Given the description of an element on the screen output the (x, y) to click on. 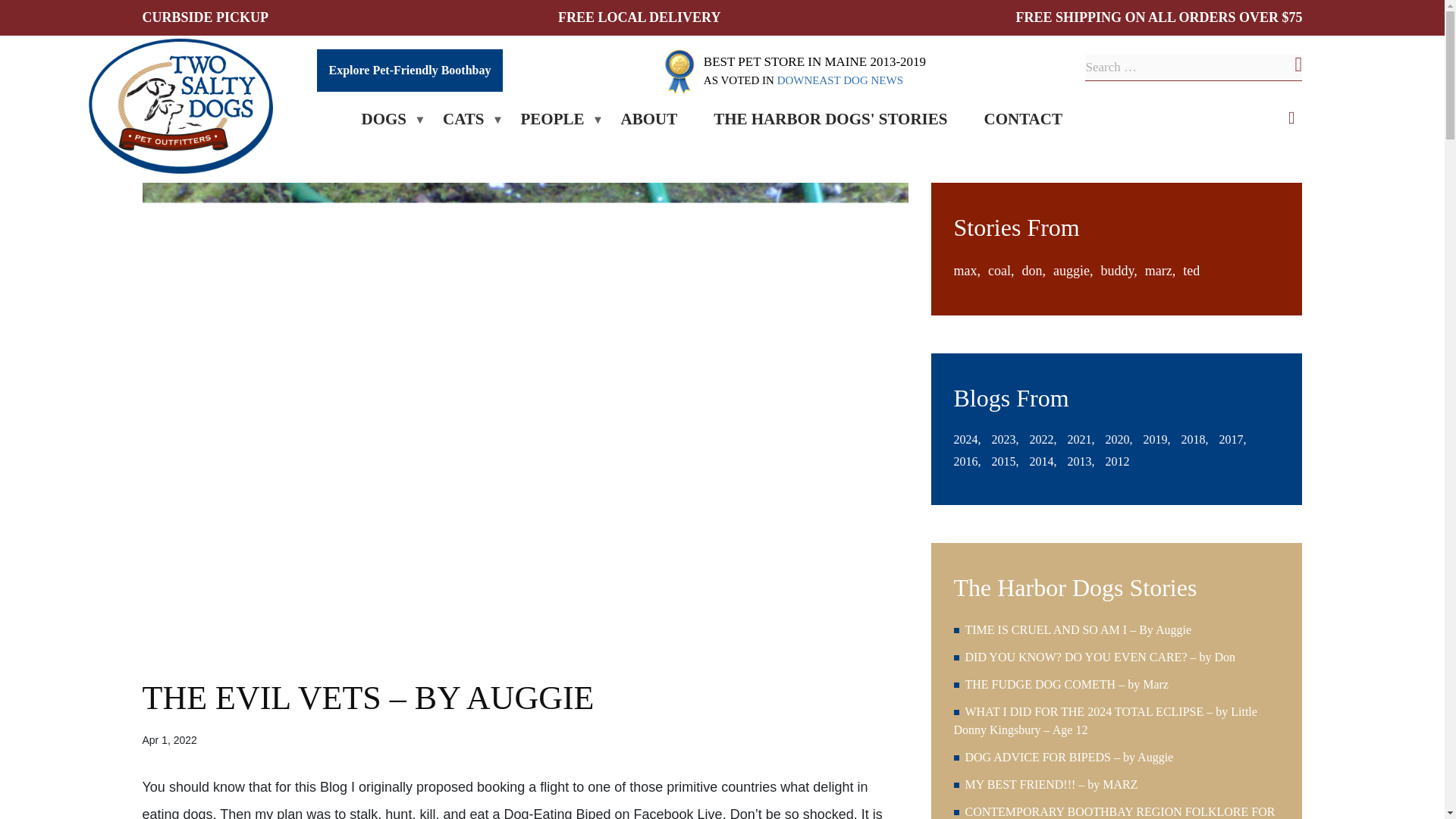
Posts by buddy (1118, 271)
PEOPLE (552, 119)
Posts by don (1033, 271)
Posts by marz (1159, 271)
ABOUT (648, 119)
Explore Pet-Friendly Boothbay (410, 70)
CONTACT (1022, 119)
CATS (463, 119)
DOWNEAST DOG NEWS (839, 80)
THE HARBOR DOGS' STORIES (830, 119)
